Given the description of an element on the screen output the (x, y) to click on. 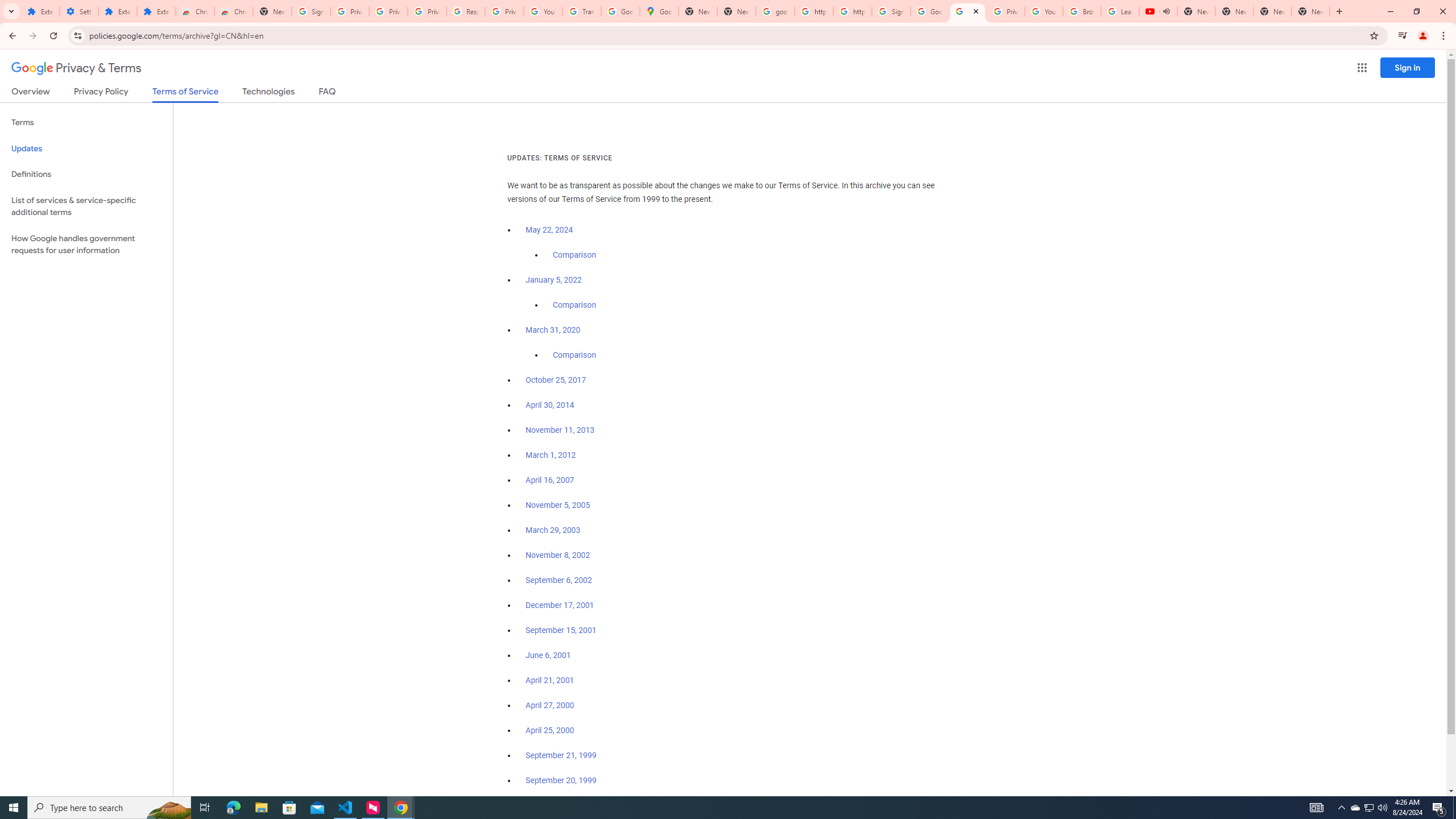
View site information (77, 35)
Back (10, 35)
Definitions (86, 174)
YouTube (542, 11)
